Given the description of an element on the screen output the (x, y) to click on. 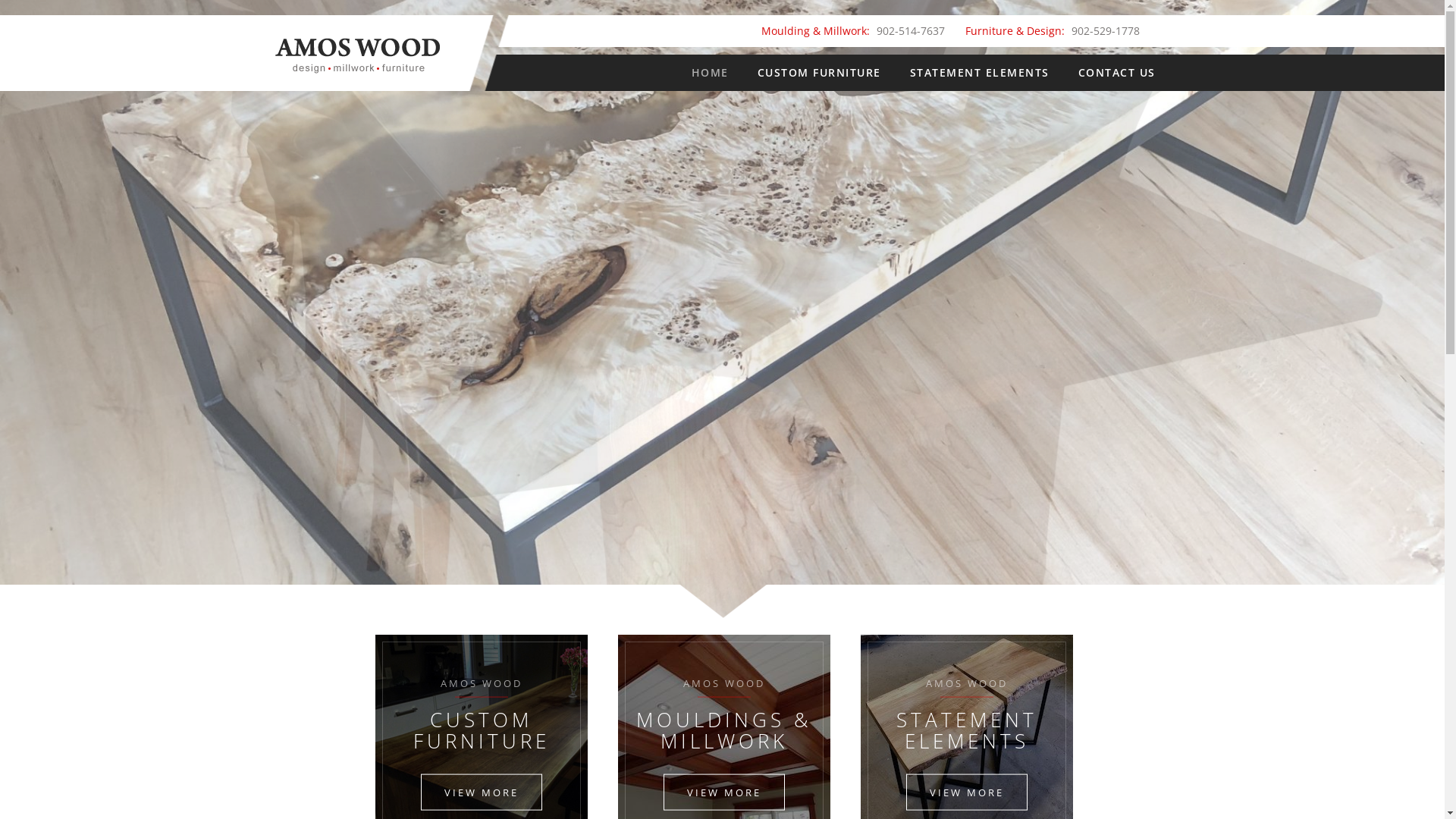
CONTACT US Element type: text (1116, 72)
CUSTOM FURNITURE Element type: text (819, 72)
VIEW MORE Element type: text (481, 792)
STATEMENT ELEMENTS Element type: text (978, 72)
VIEW MORE Element type: text (966, 792)
HOME Element type: text (709, 72)
VIEW MORE Element type: text (723, 792)
902-514-7637 Element type: text (910, 30)
902-529-1778 Element type: text (1104, 30)
